Given the description of an element on the screen output the (x, y) to click on. 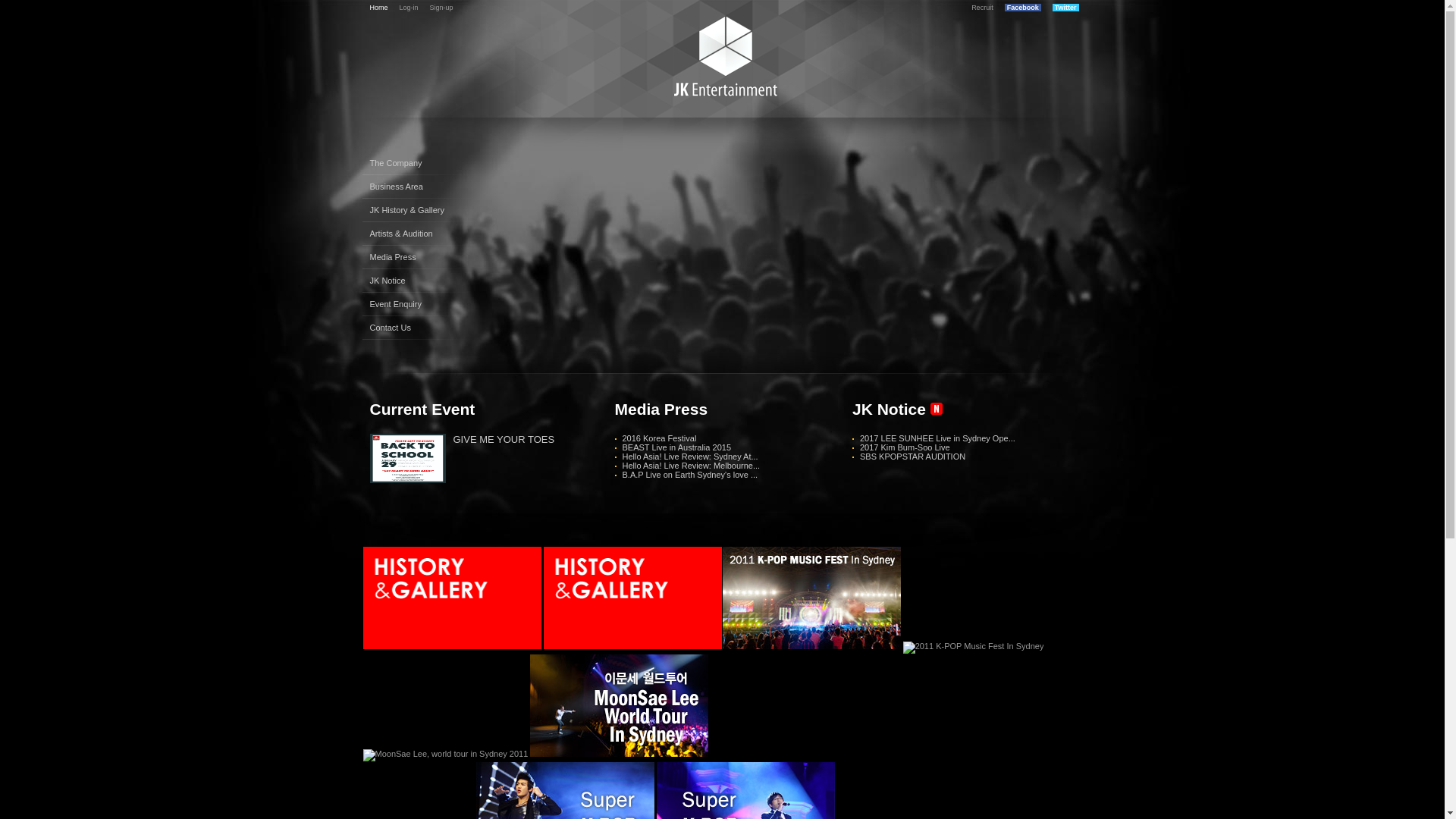
SBS KPOPSTAR AUDITION Element type: text (912, 456)
JK Notice Element type: text (419, 280)
JK History & Gallery Element type: text (419, 210)
The Company Element type: text (419, 163)
Hello Asia! Live Review: Sydney At... Element type: text (689, 456)
Twitter Element type: text (1065, 7)
2016 Korea Festival Element type: text (658, 437)
Home Element type: text (379, 7)
Log-in Element type: text (408, 7)
Media Press Element type: text (419, 257)
Event Enquiry Element type: text (419, 304)
2017 LEE SUNHEE Live in Sydney Ope... Element type: text (937, 437)
Hello Asia! Live Review: Melbourne... Element type: text (690, 465)
B.A.P Live on Earth Sydney's love ... Element type: text (689, 474)
Business Area Element type: text (419, 186)
Recruit Element type: text (982, 7)
BEAST Live in Australia 2015 Element type: text (676, 446)
Artists & Audition Element type: text (419, 233)
Sign-up Element type: text (441, 7)
Contact Us Element type: text (419, 327)
2017 Kim Bum-Soo Live Element type: text (904, 446)
GIVE ME YOUR TOES Element type: text (504, 439)
Facebook Element type: text (1022, 7)
